Given the description of an element on the screen output the (x, y) to click on. 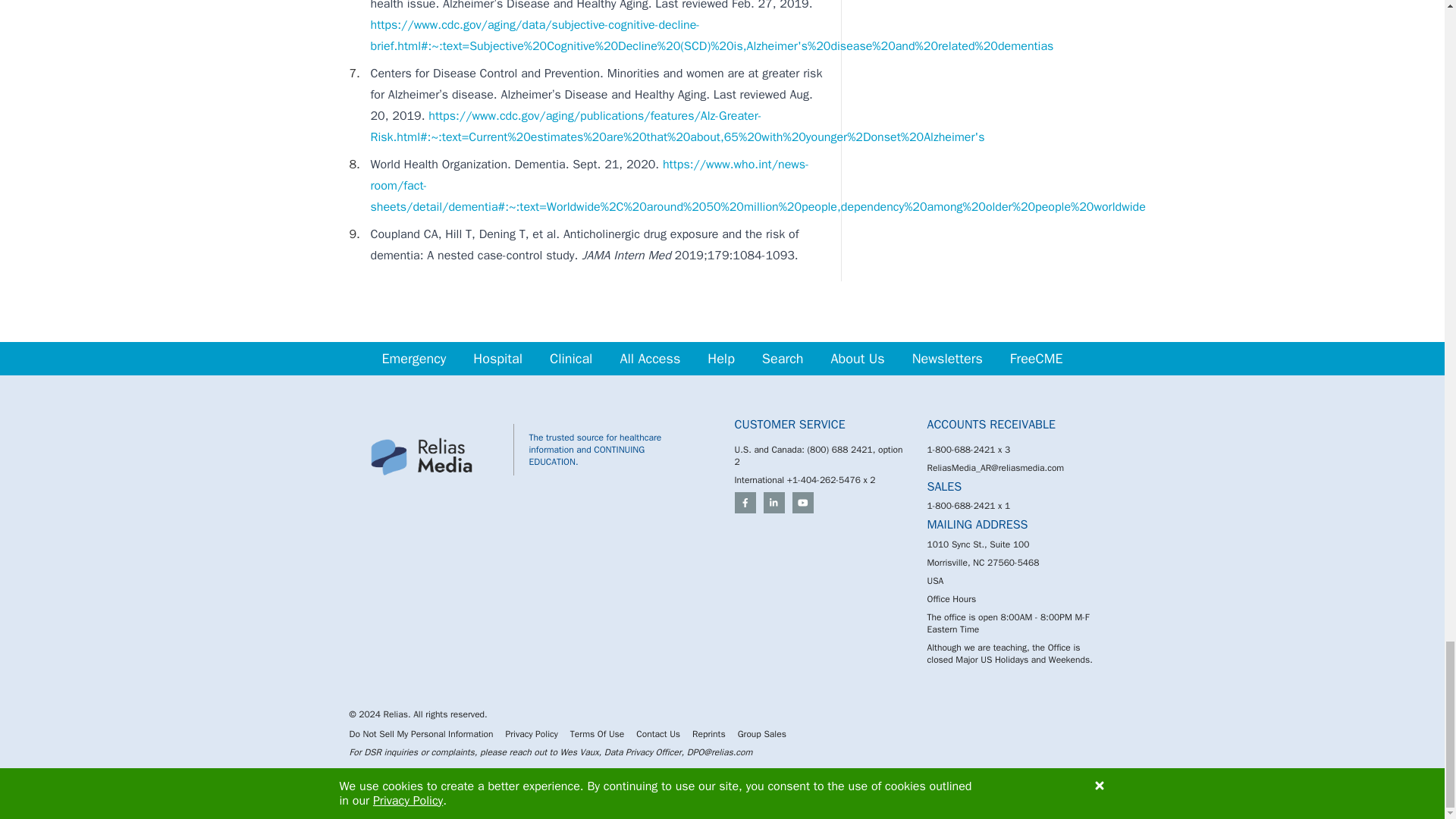
YouTube (802, 502)
LinkedIn (773, 502)
Facebook (744, 502)
